Given the description of an element on the screen output the (x, y) to click on. 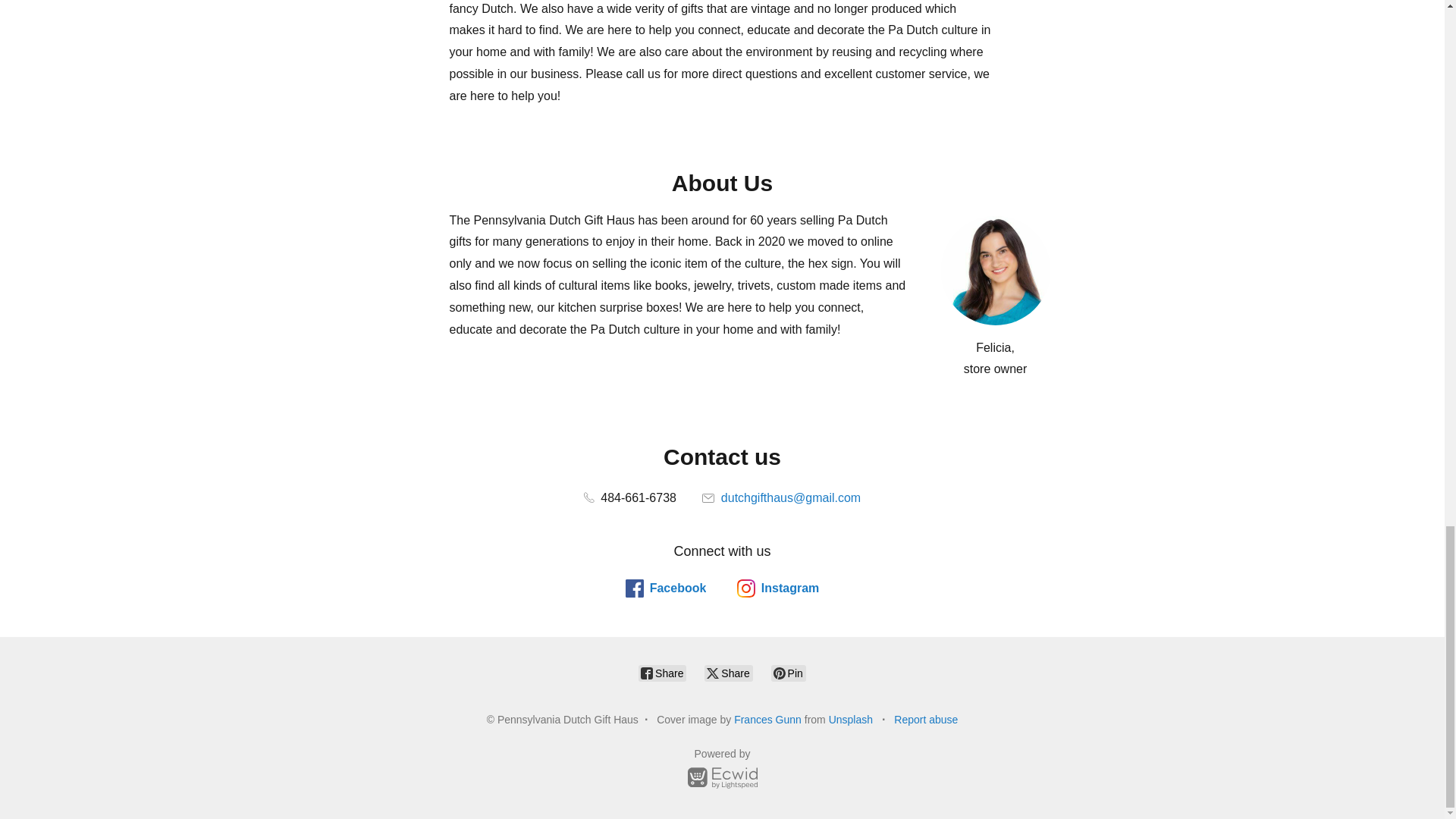
Pin (788, 673)
Frances Gunn (767, 719)
Facebook (666, 588)
Instagram (777, 588)
Powered by (722, 770)
Report abuse (925, 719)
484-661-6738 (630, 497)
Share (662, 673)
Share (728, 673)
Unsplash (850, 719)
